Given the description of an element on the screen output the (x, y) to click on. 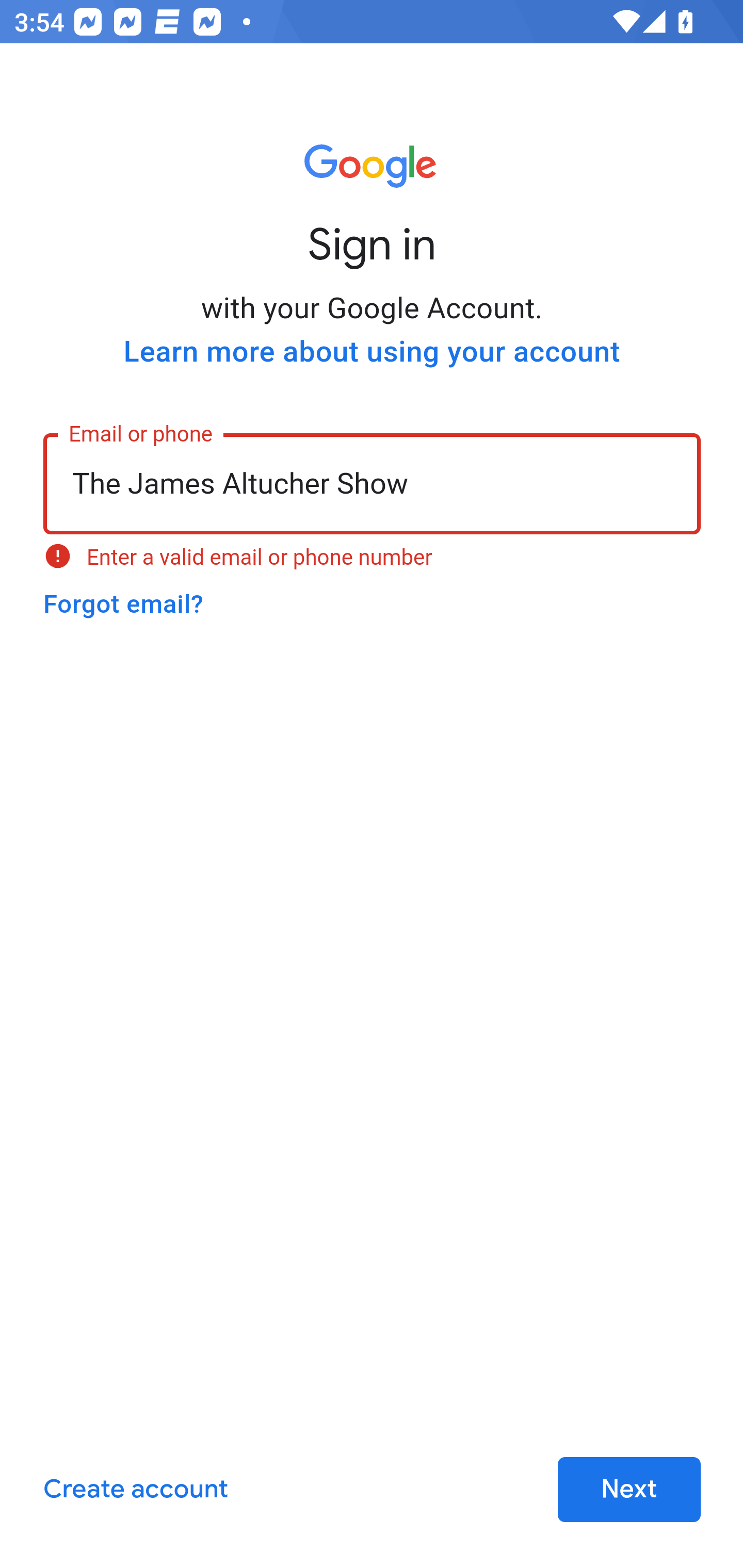
Learn more about using your account (371, 351)
The James Altucher Show (372, 481)
Forgot email? (123, 604)
Create account (134, 1490)
Next (629, 1490)
